Given the description of an element on the screen output the (x, y) to click on. 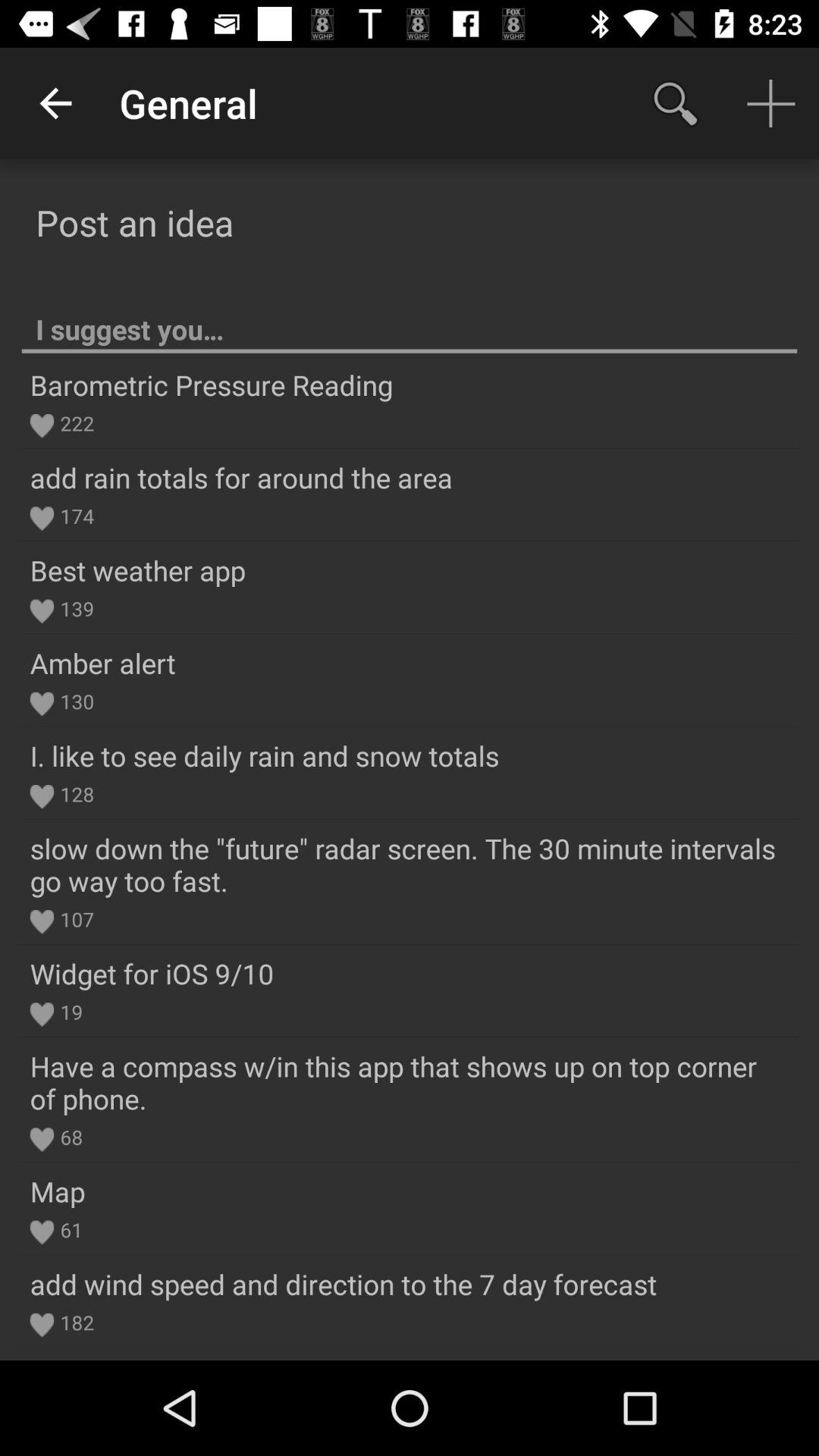
click the heart icon above map (42, 1138)
select the symbol left to the text 128 (42, 796)
move to icon which is under the amber  alert (42, 704)
select the icon which is below widget for ios 010 on the page (42, 1014)
click on the search icon (675, 103)
